Given the description of an element on the screen output the (x, y) to click on. 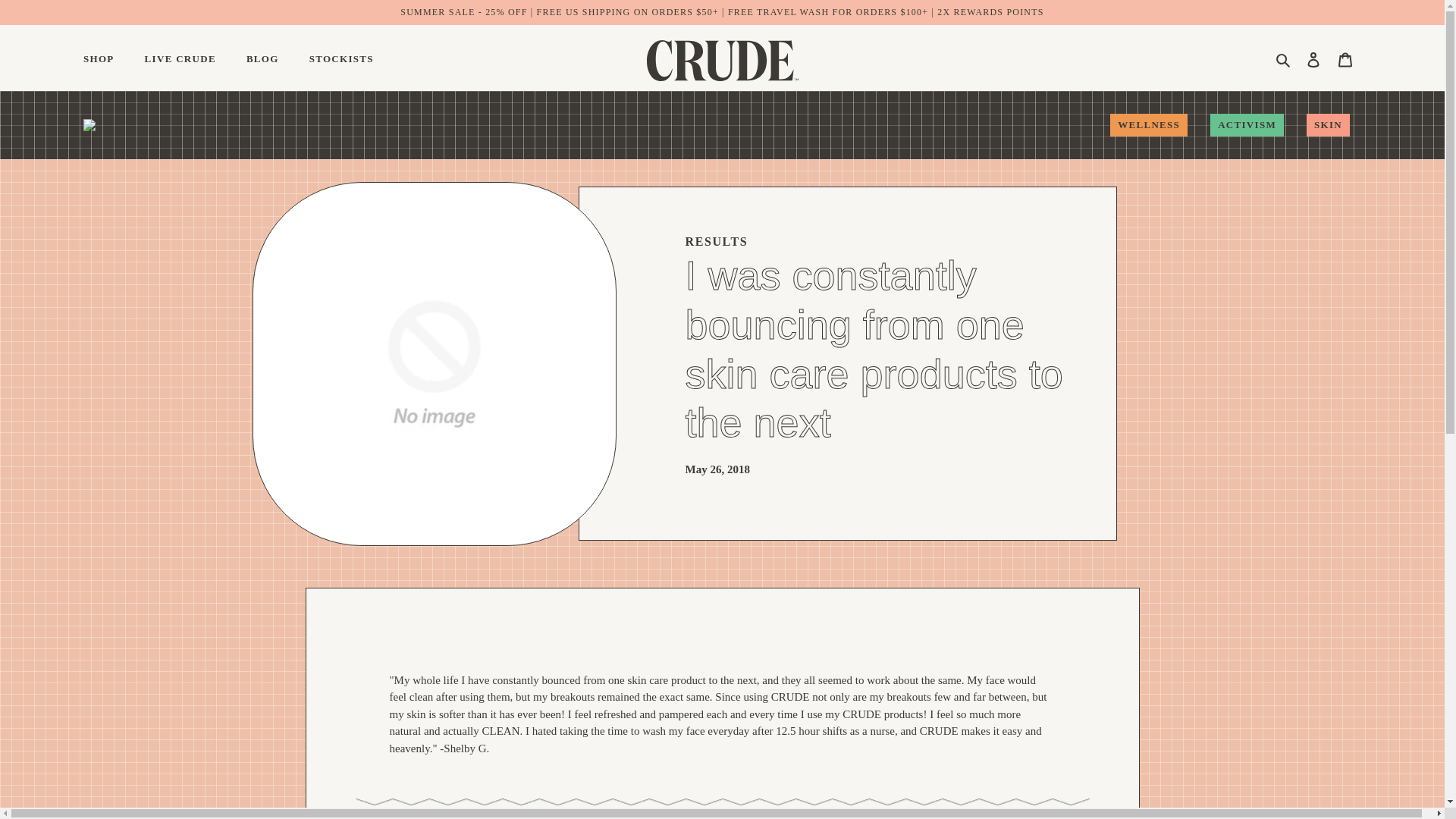
Crude The word "Crude" spelled in a jaunty typeface. (721, 56)
